Given the description of an element on the screen output the (x, y) to click on. 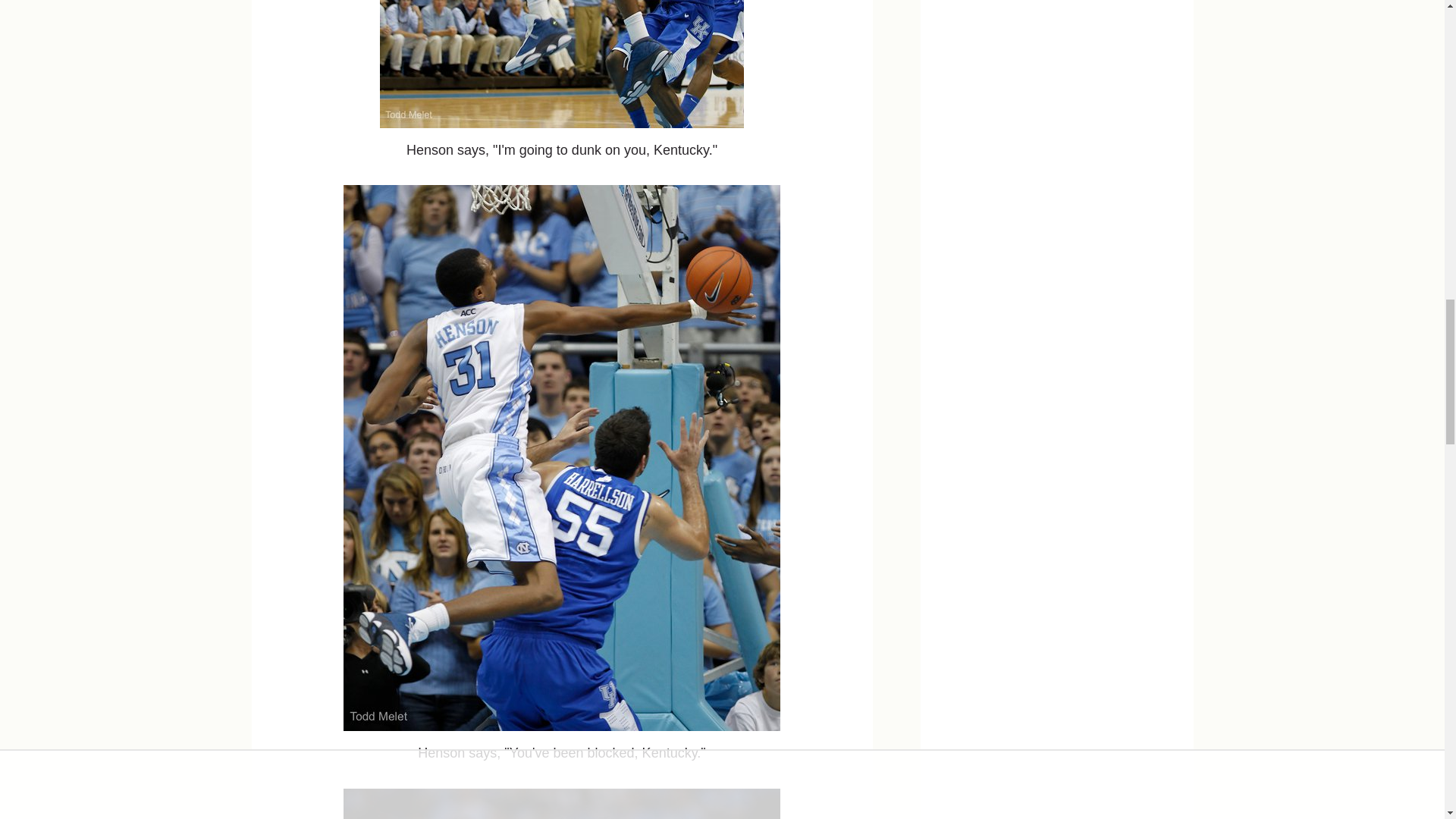
hensonkentucky (562, 63)
kentuckycoachissad (561, 803)
